Given the description of an element on the screen output the (x, y) to click on. 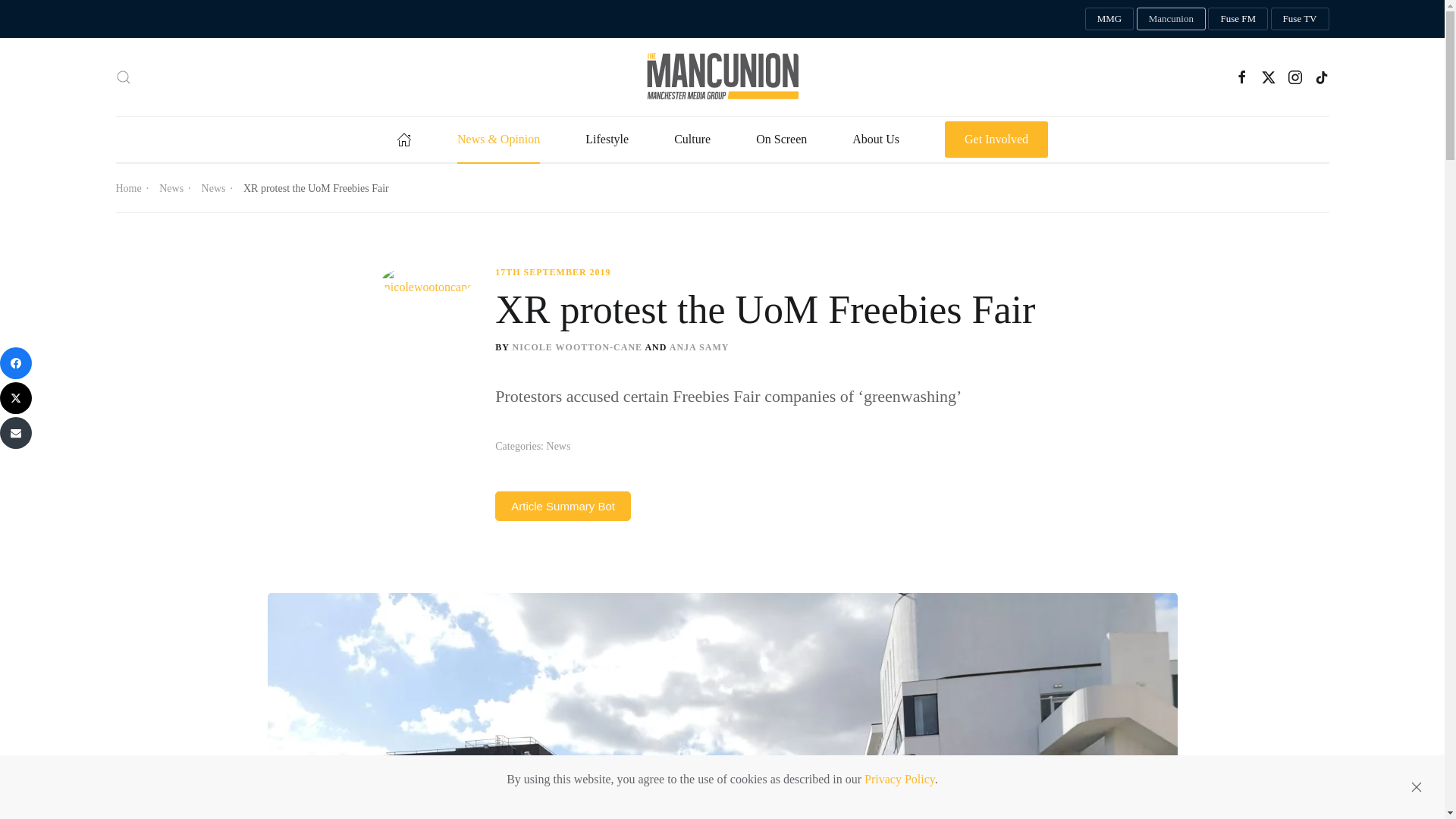
Mancunion (1171, 18)
Manchester University Mancunion Newspaper (1171, 18)
Fuse TV (1300, 18)
Posts by Nicole Wootton-Cane (577, 347)
Posts by Anja Samy (699, 347)
Manchester Fuse FM (1238, 18)
MMG (1109, 18)
Manchester Fuse TV (1300, 18)
Manchester Media Group (1109, 18)
Fuse FM (1238, 18)
